Given the description of an element on the screen output the (x, y) to click on. 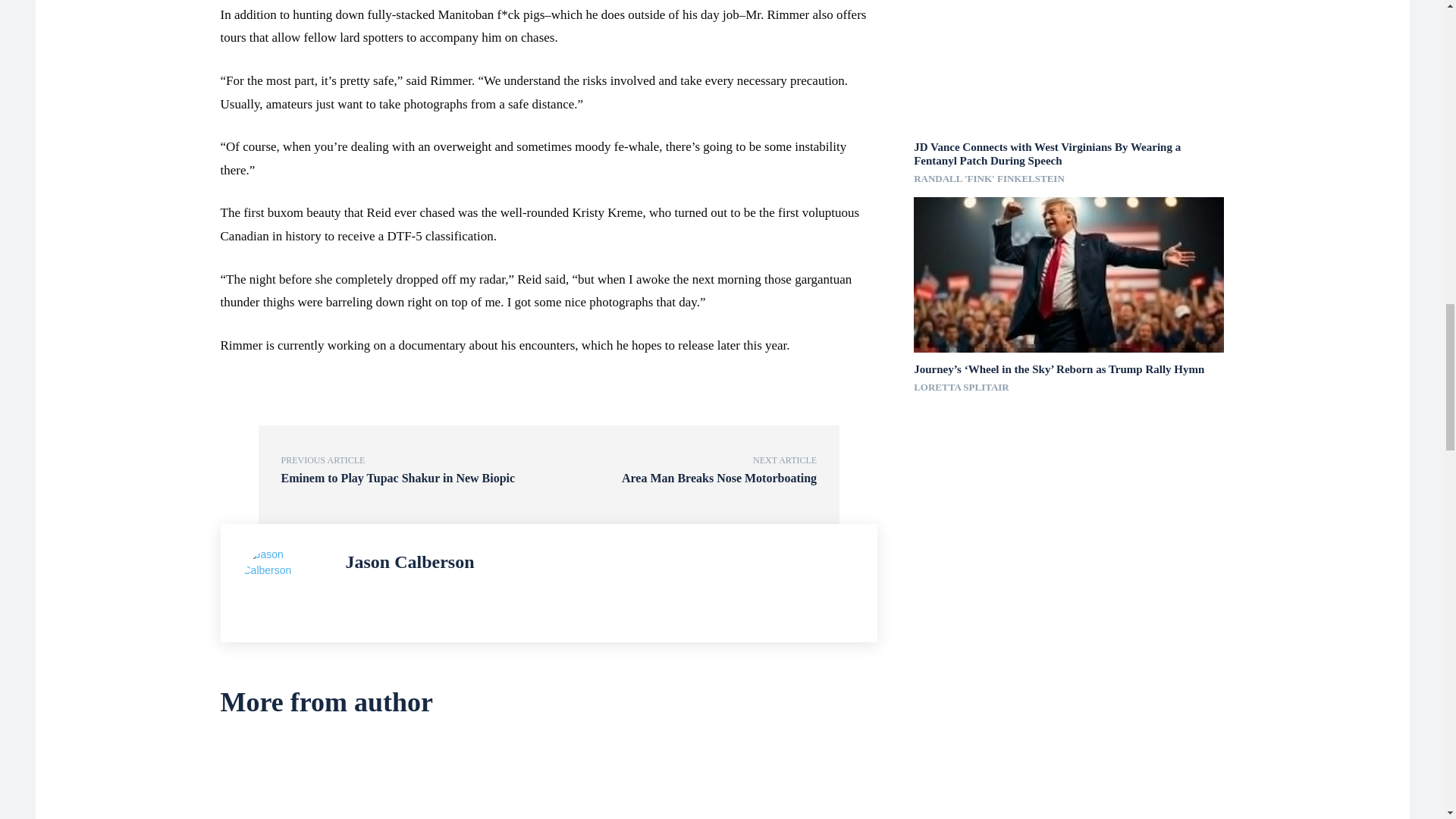
George Soros Secretly Funding Progressive Rock Groups (549, 780)
Jason Calberson (286, 583)
Ed Force One Cited for Unauthorized Chemtrail Emissions (326, 780)
